Given the description of an element on the screen output the (x, y) to click on. 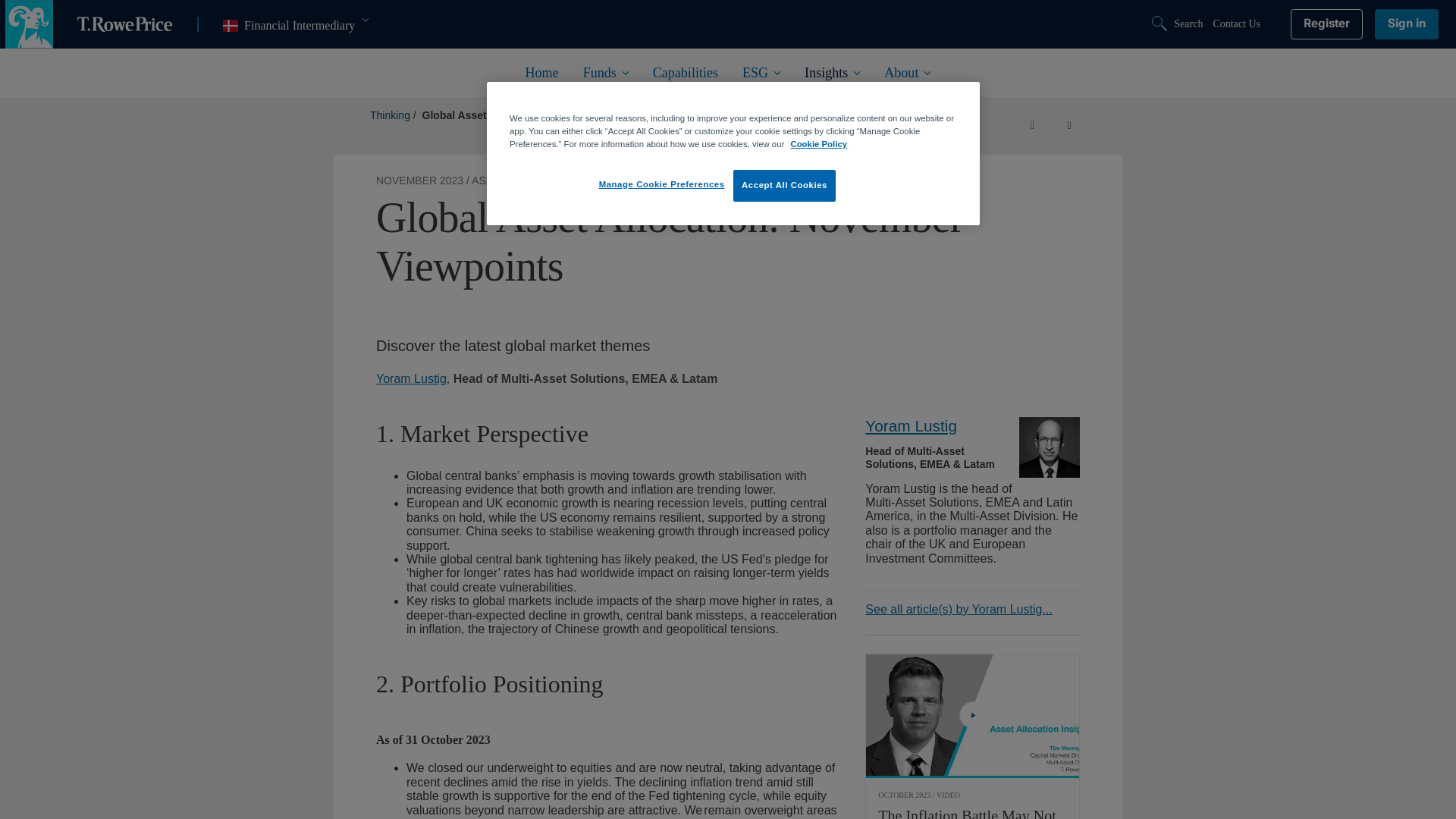
Sign in (1406, 24)
Yoram Lustig (1049, 446)
Contact Us (295, 25)
Search (1236, 24)
Register (1179, 24)
